Given the description of an element on the screen output the (x, y) to click on. 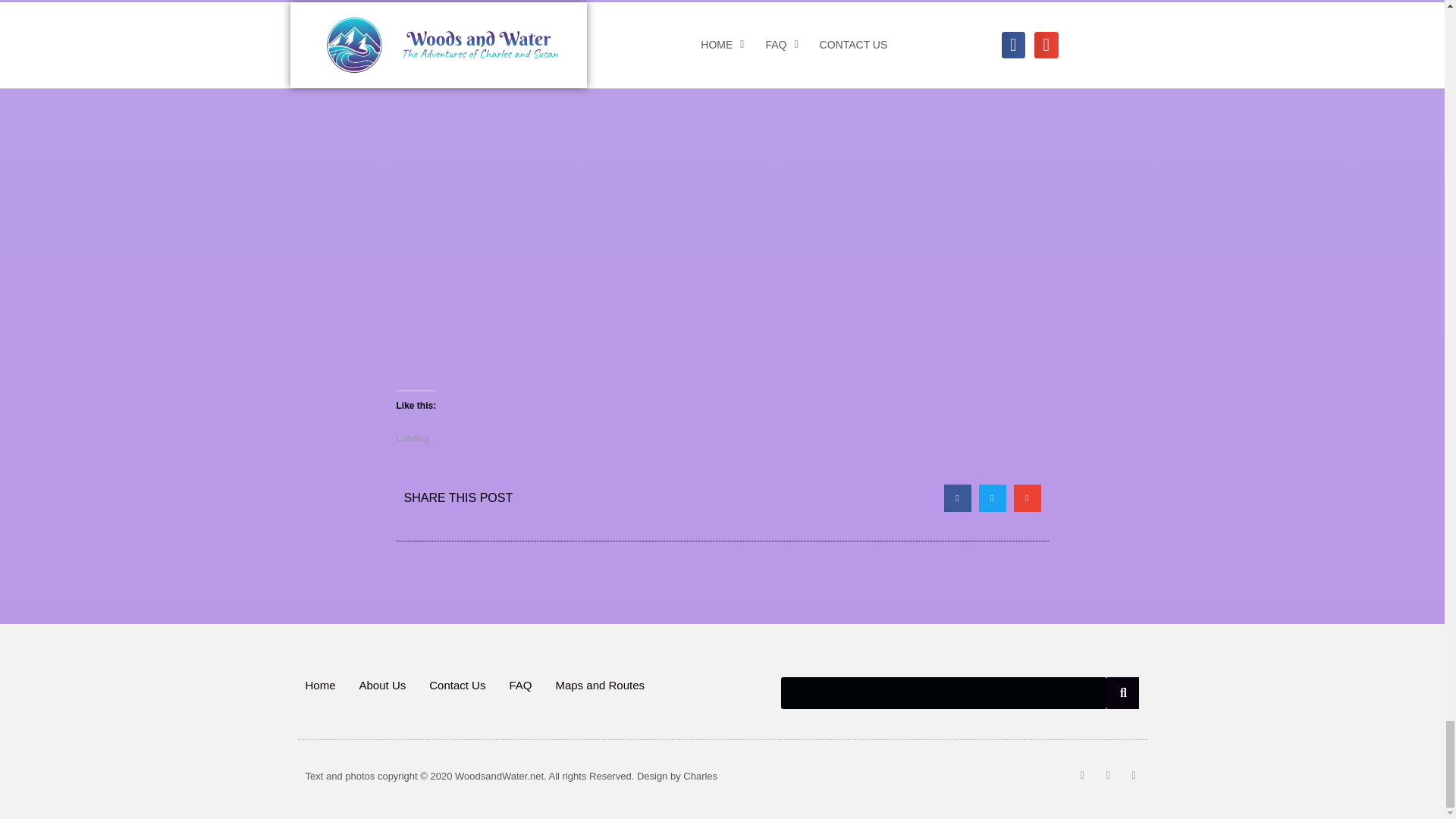
Search (944, 693)
Search (1122, 693)
